Given the description of an element on the screen output the (x, y) to click on. 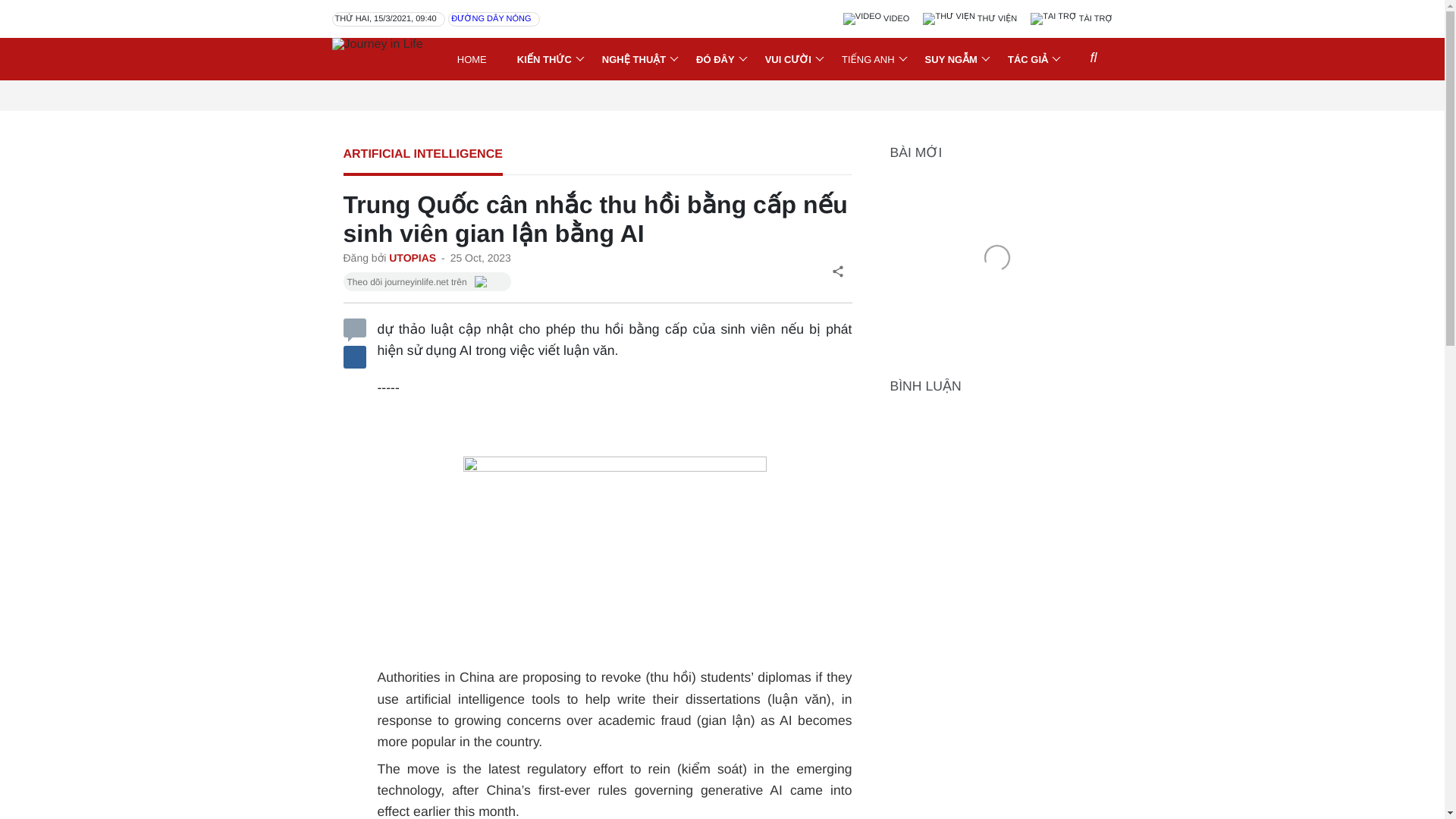
Home (471, 58)
HOME (471, 58)
VIDEO (876, 18)
